Given the description of an element on the screen output the (x, y) to click on. 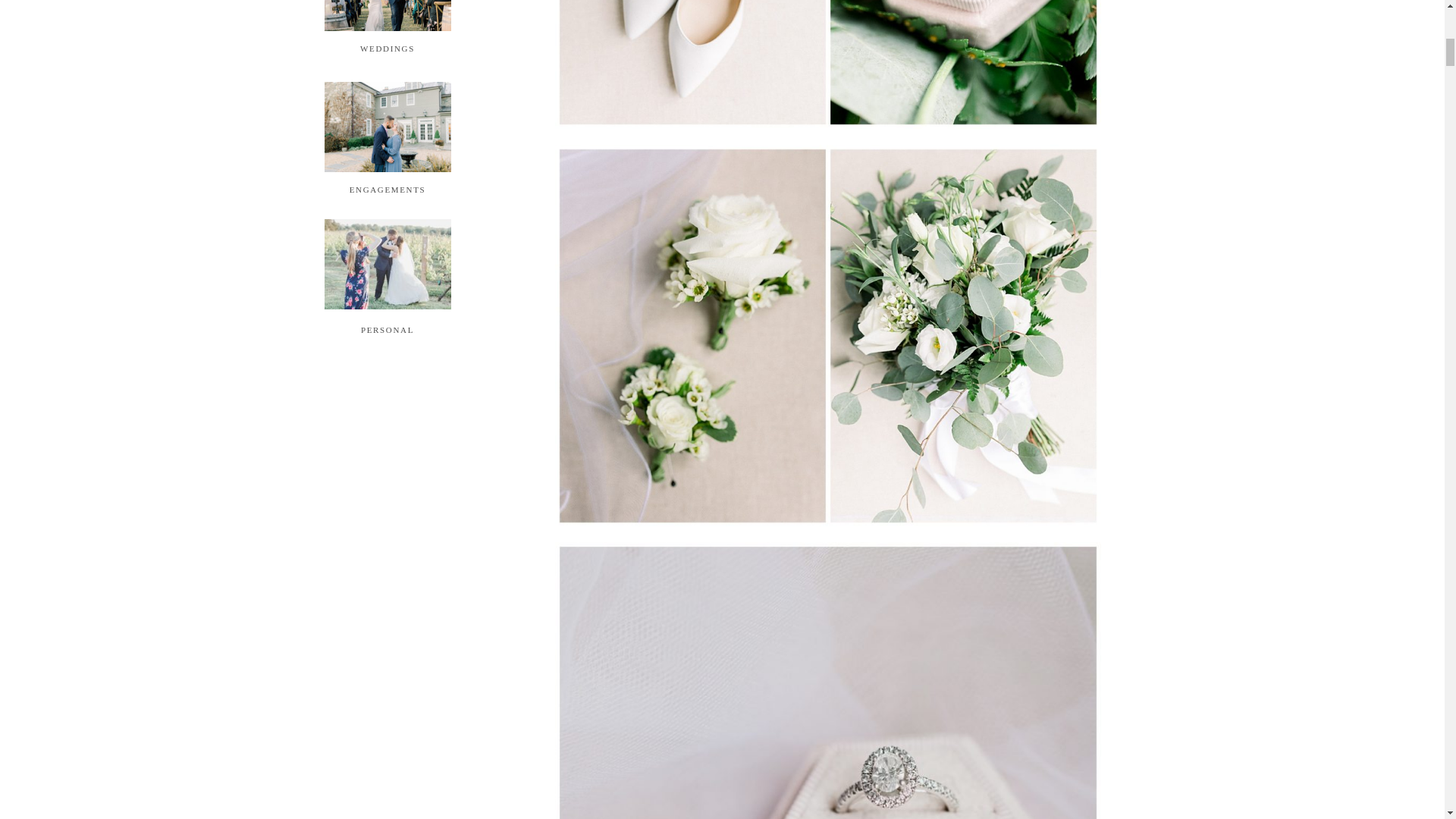
ENGAGEMENTS (387, 188)
WEDDINGS (387, 47)
PERSONAL (387, 328)
